Given the description of an element on the screen output the (x, y) to click on. 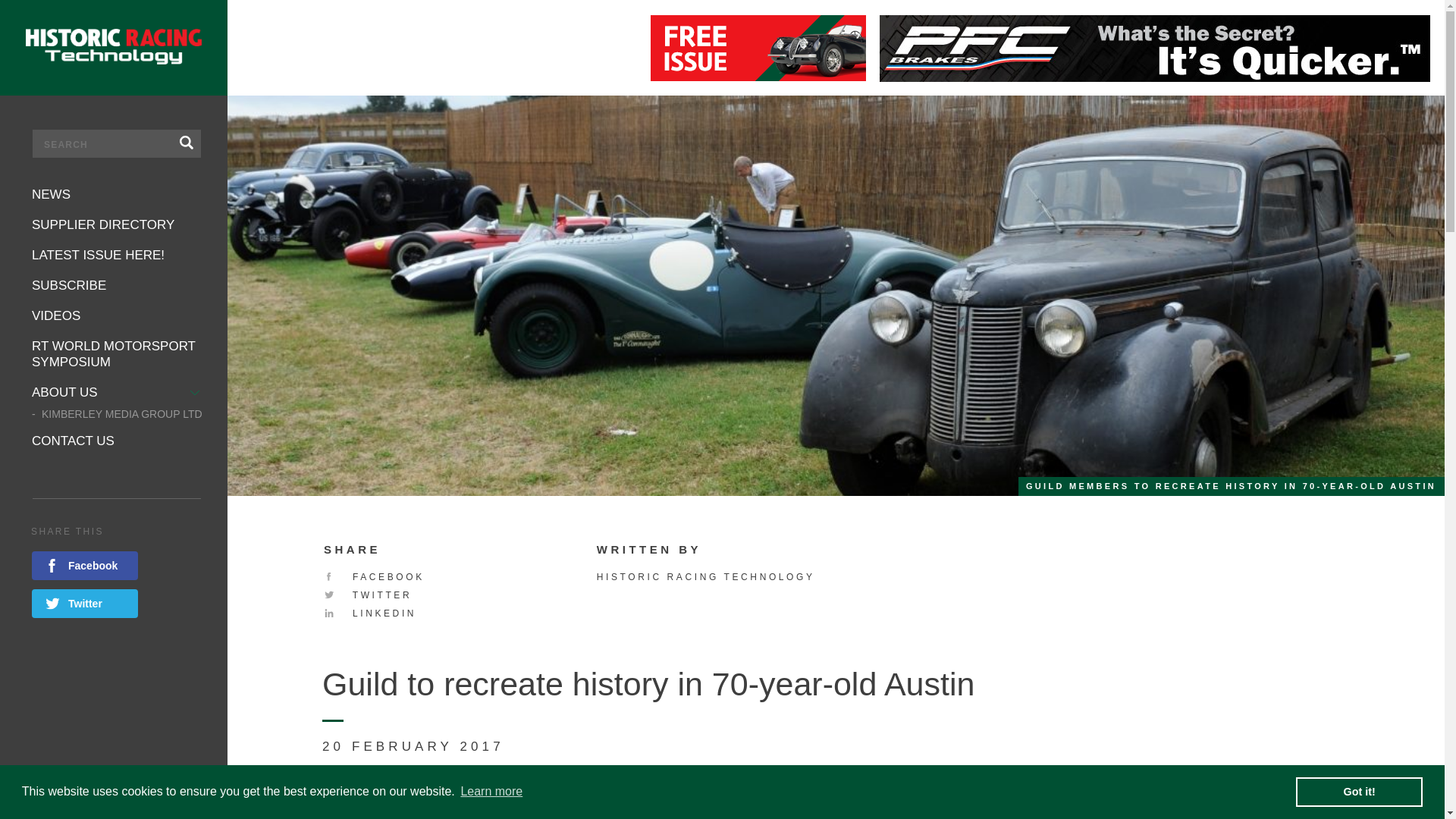
Got it! (1358, 791)
Learn more (491, 791)
TWITTER (367, 594)
FACEBOOK (374, 576)
LINKEDIN (369, 613)
